Given the description of an element on the screen output the (x, y) to click on. 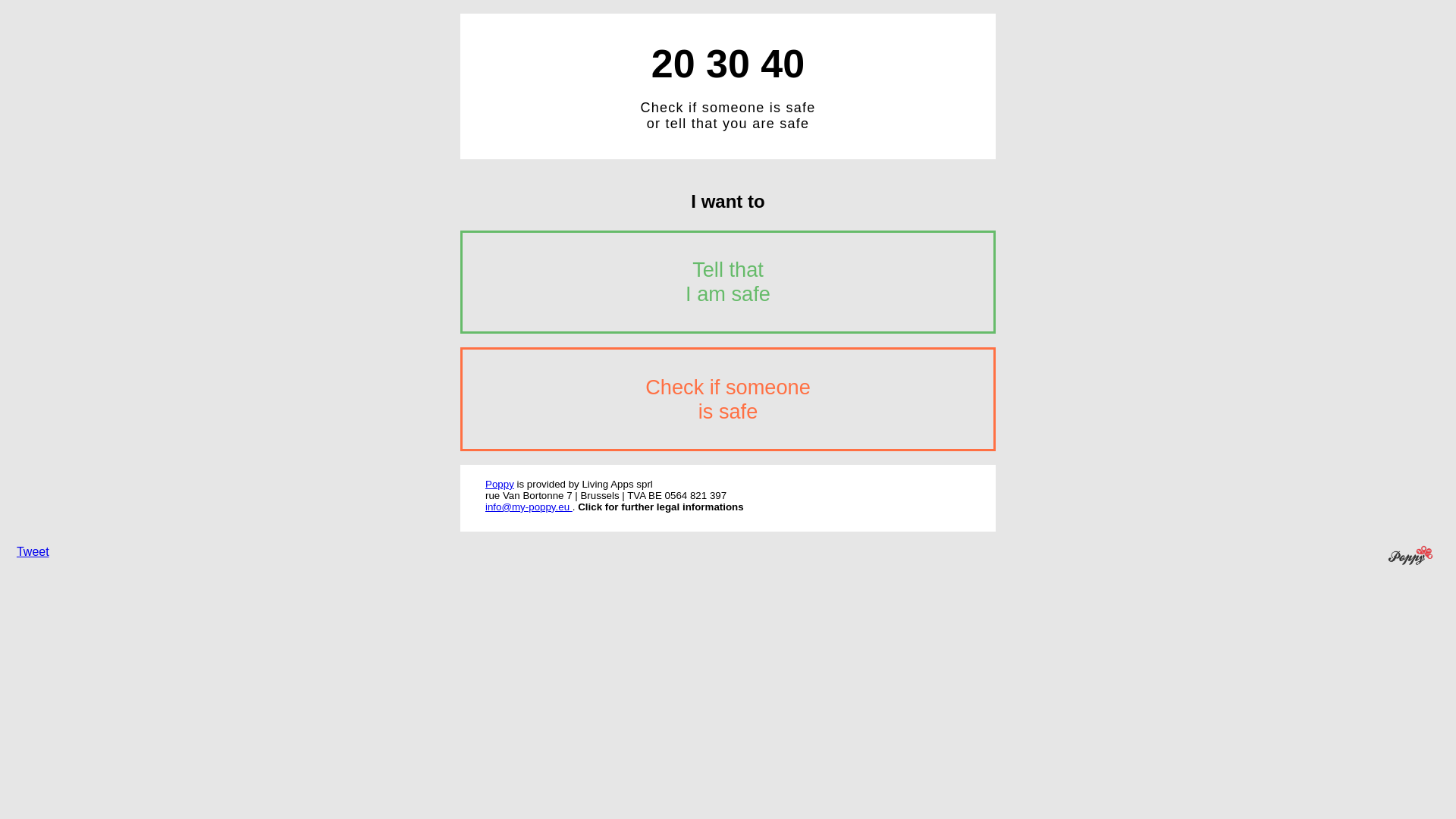
Check if someone
is safe Element type: text (727, 398)
Poppy Element type: text (499, 483)
Tweet Element type: text (32, 551)
info@my-poppy.eu Element type: text (528, 506)
Tell that
I am safe Element type: text (727, 281)
